Given the description of an element on the screen output the (x, y) to click on. 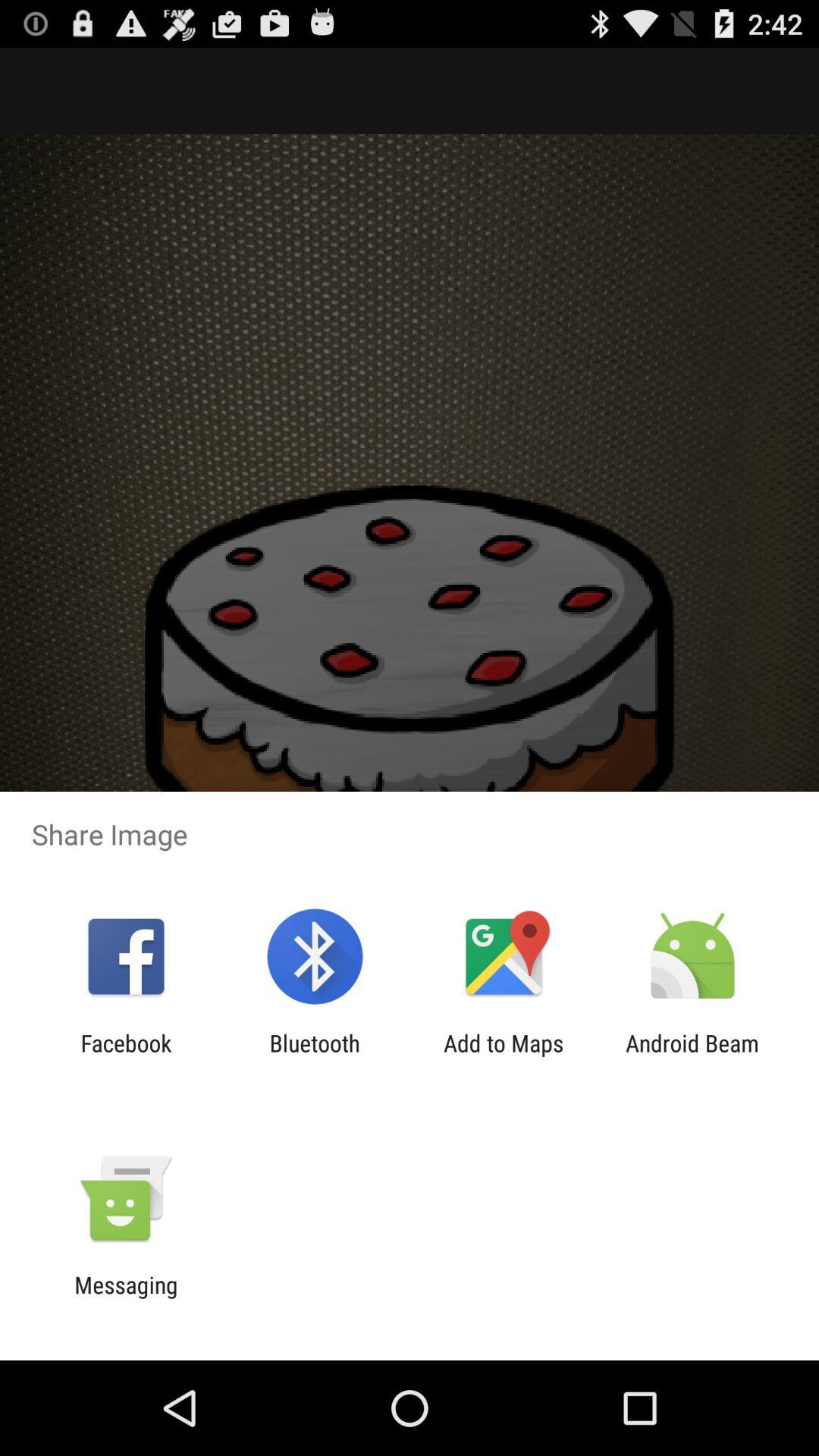
launch android beam (692, 1056)
